Given the description of an element on the screen output the (x, y) to click on. 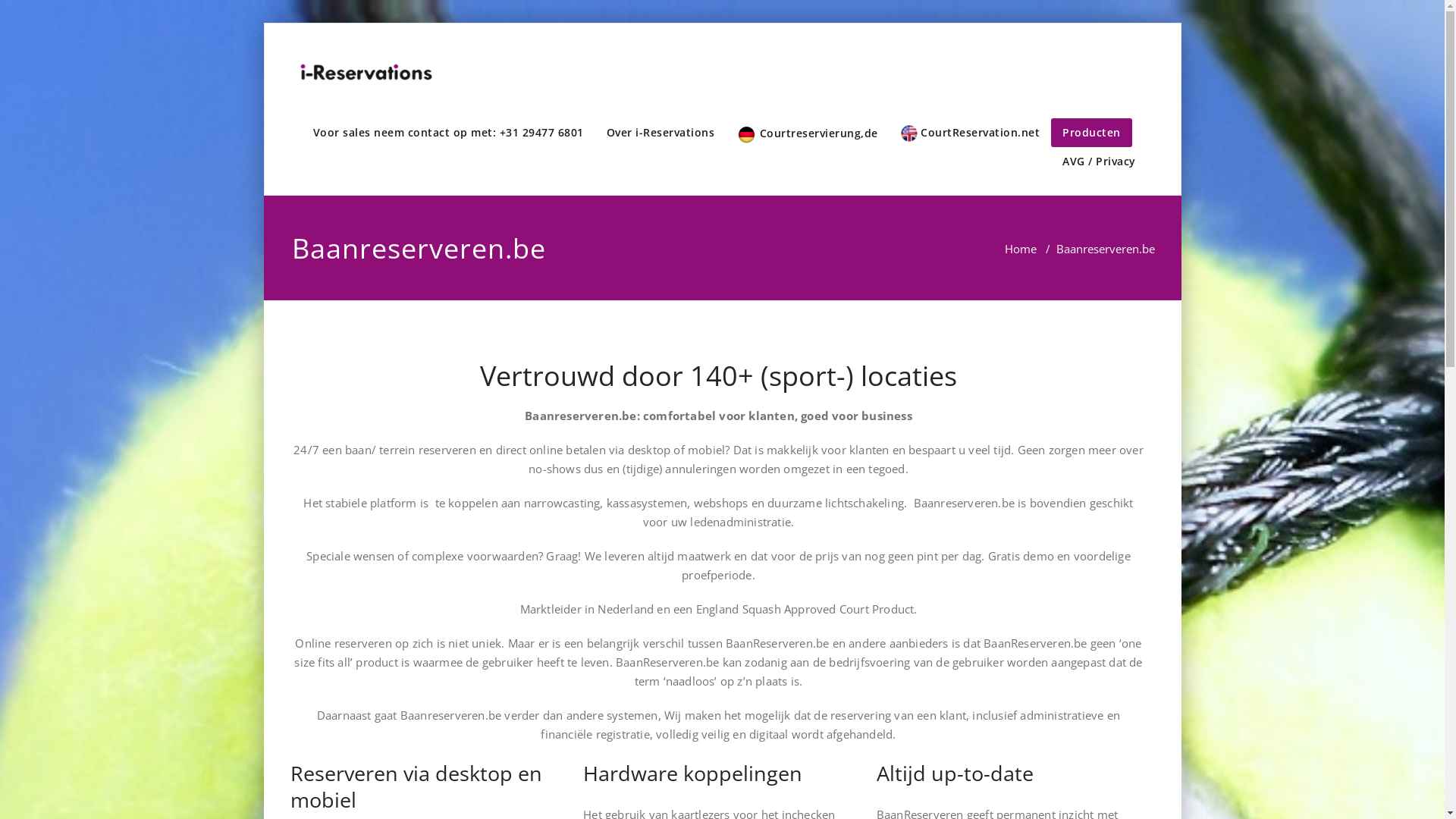
Home Element type: text (1019, 248)
Altijd up-to-date Element type: text (954, 773)
Over i-Reservations Element type: text (659, 132)
AVG / Privacy Element type: text (1099, 161)
Voor sales neem contact op met: +31 29477 6801 Element type: text (448, 132)
Reserveren via desktop en mobiel Element type: text (415, 786)
Hardware koppelingen Element type: text (692, 773)
Courtreservierung,de Element type: text (807, 134)
CourtReservation.net Element type: text (969, 133)
Producten Element type: text (1091, 132)
